Given the description of an element on the screen output the (x, y) to click on. 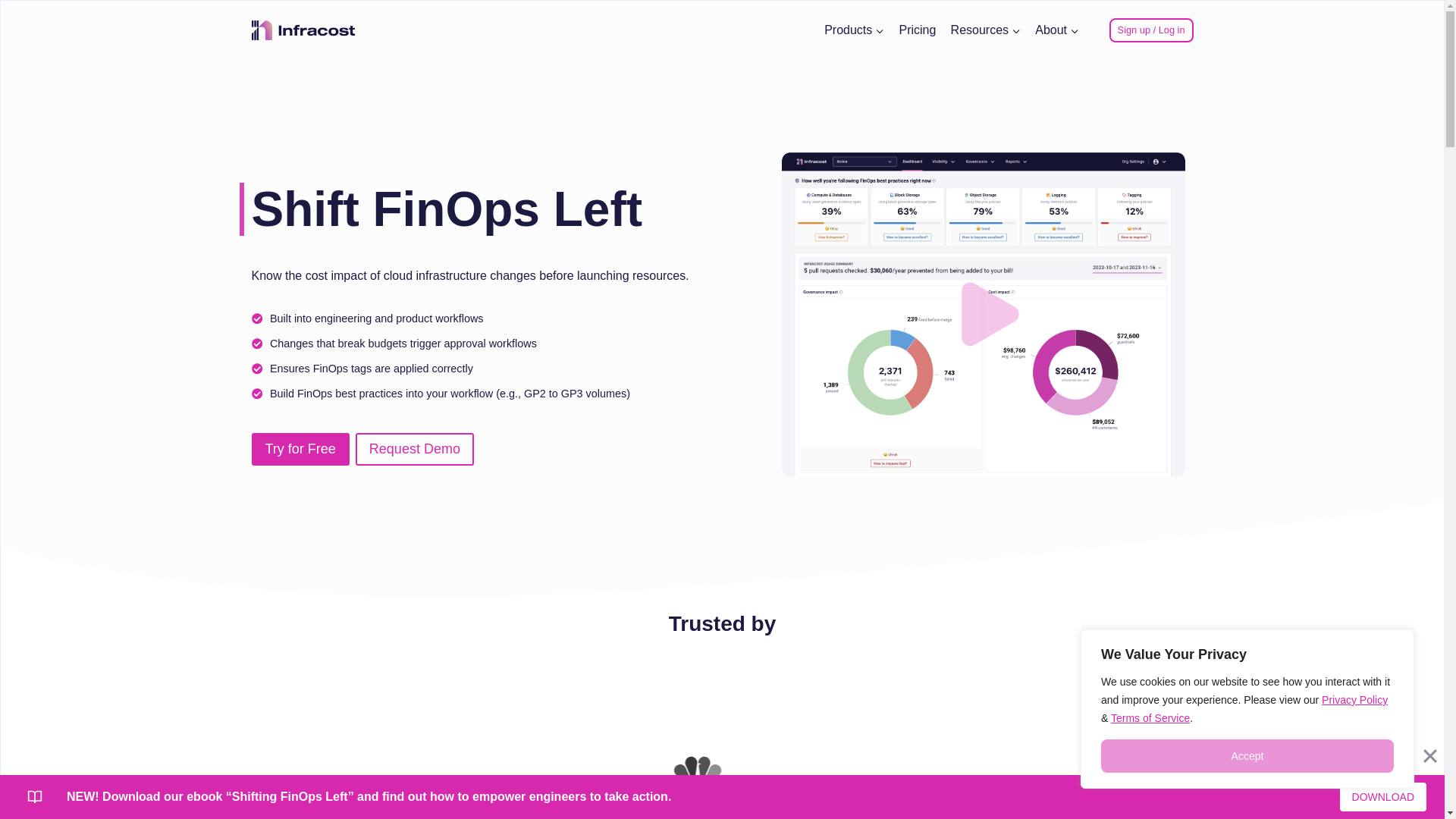
Privacy Policy (1354, 699)
Terms of Service (1149, 717)
Request Demo (414, 449)
Try for Free (300, 449)
Products (853, 30)
About (1056, 30)
Resources (985, 30)
Pricing (917, 30)
Accept (1246, 756)
